Given the description of an element on the screen output the (x, y) to click on. 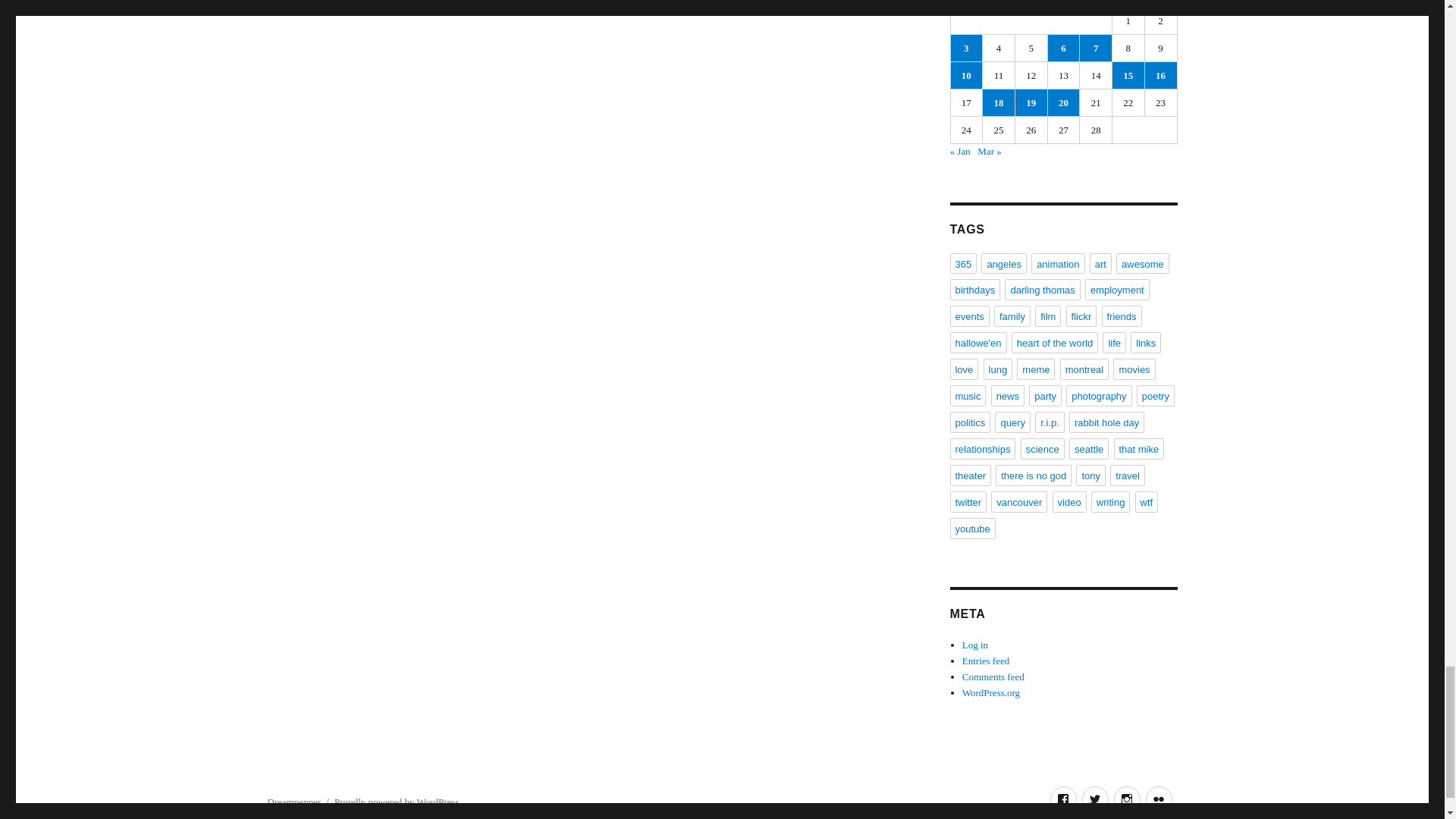
Sunday (1160, 3)
Monday (967, 3)
Saturday (1128, 3)
Wednesday (1031, 3)
Tuesday (998, 3)
Friday (1096, 3)
Thursday (1064, 3)
